Given the description of an element on the screen output the (x, y) to click on. 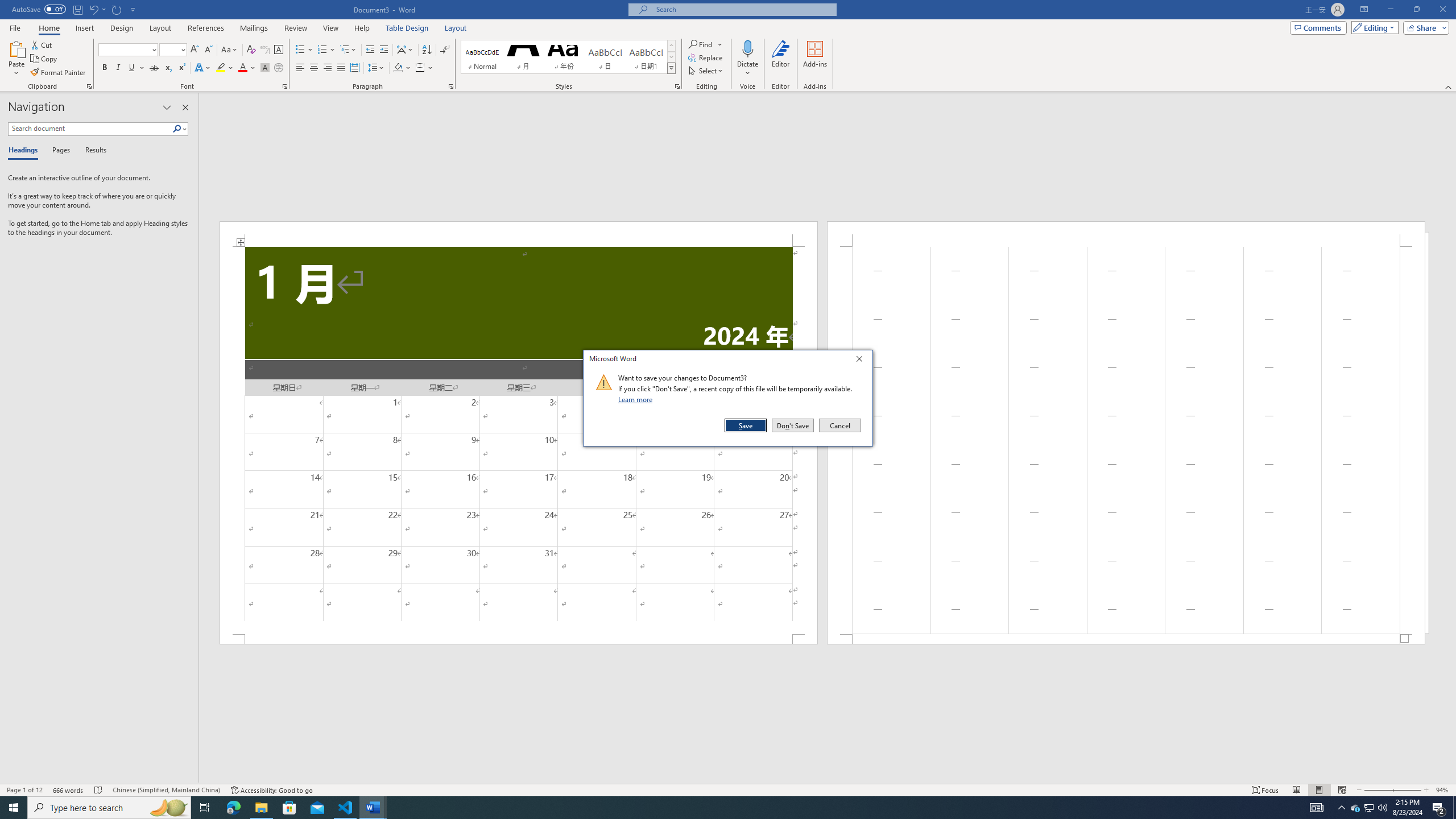
Accessibility Checker Accessibility: Good to go (271, 790)
Undo Apply Quick Style (92, 9)
Character Shading (264, 67)
Superscript (180, 67)
Distributed (354, 67)
